Given the description of an element on the screen output the (x, y) to click on. 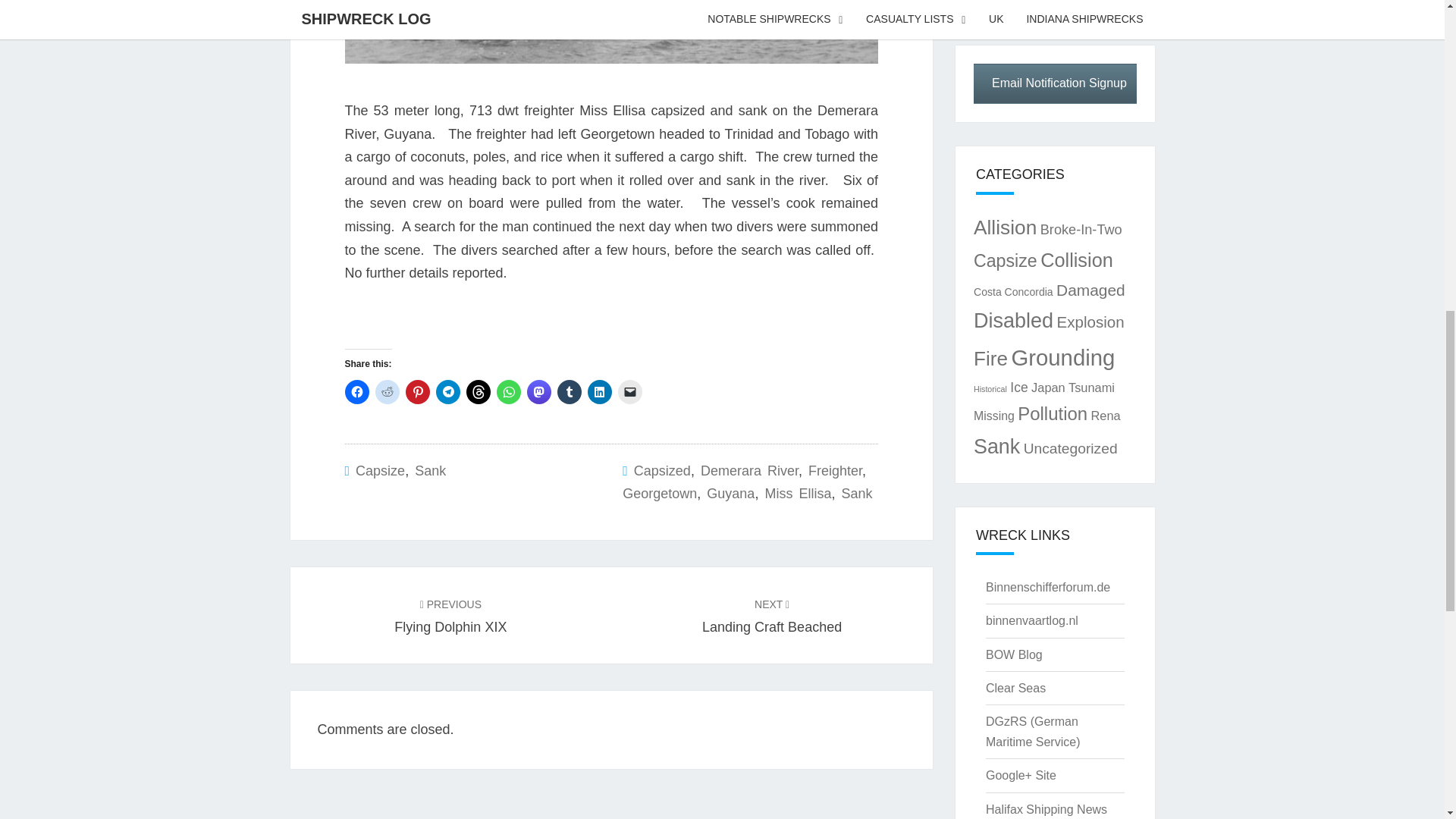
Click to share on Facebook (355, 392)
Click to share on Pinterest (416, 392)
Click to share on Mastodon (537, 392)
Click to share on Threads (477, 392)
Click to share on LinkedIn (598, 392)
Click to share on Tumblr (568, 392)
Miss-Ellisa (610, 31)
Click to share on Reddit (386, 392)
Click to email a link to a friend (629, 392)
Click to share on WhatsApp (507, 392)
